Given the description of an element on the screen output the (x, y) to click on. 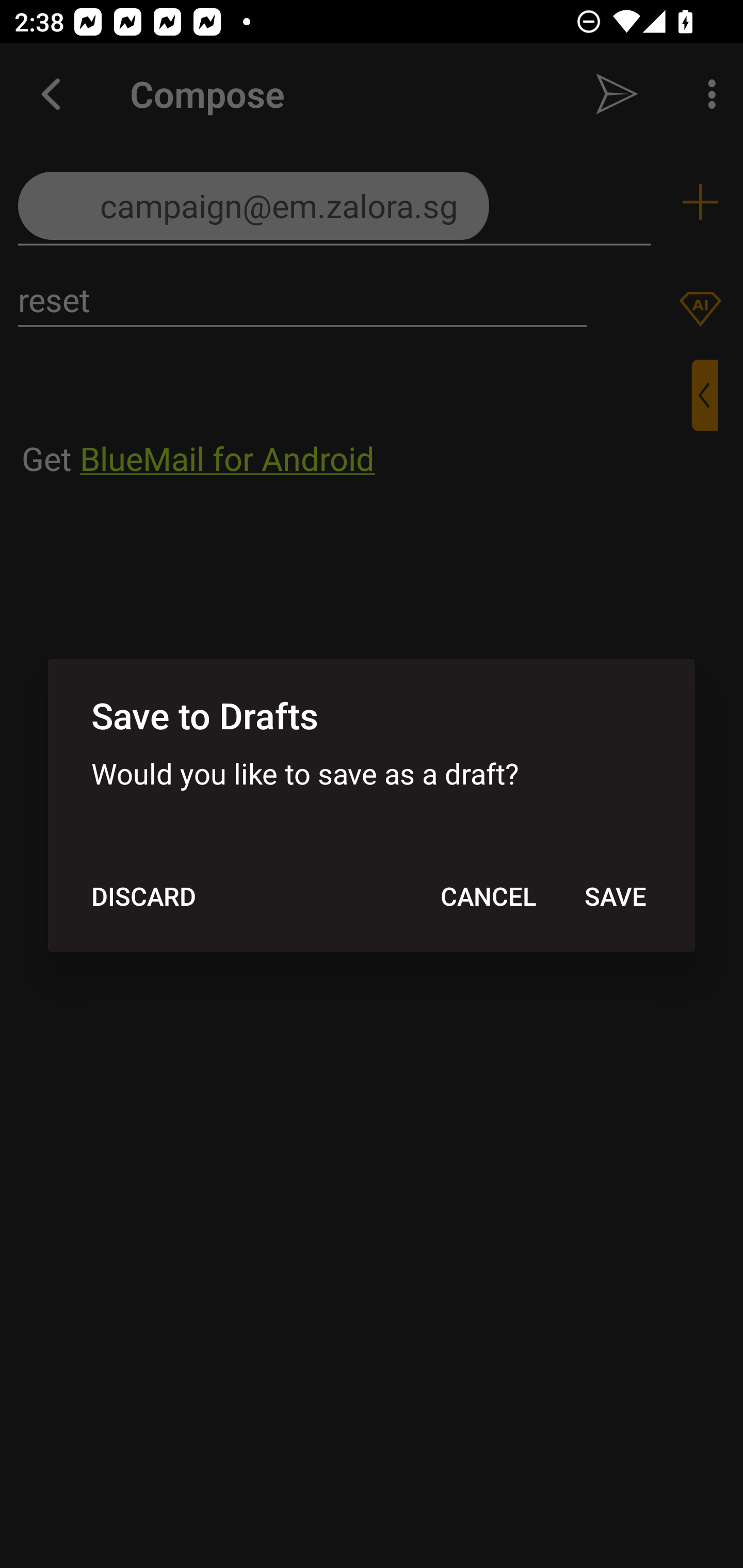
DISCARD (143, 895)
CANCEL (488, 895)
SAVE (615, 895)
